Given the description of an element on the screen output the (x, y) to click on. 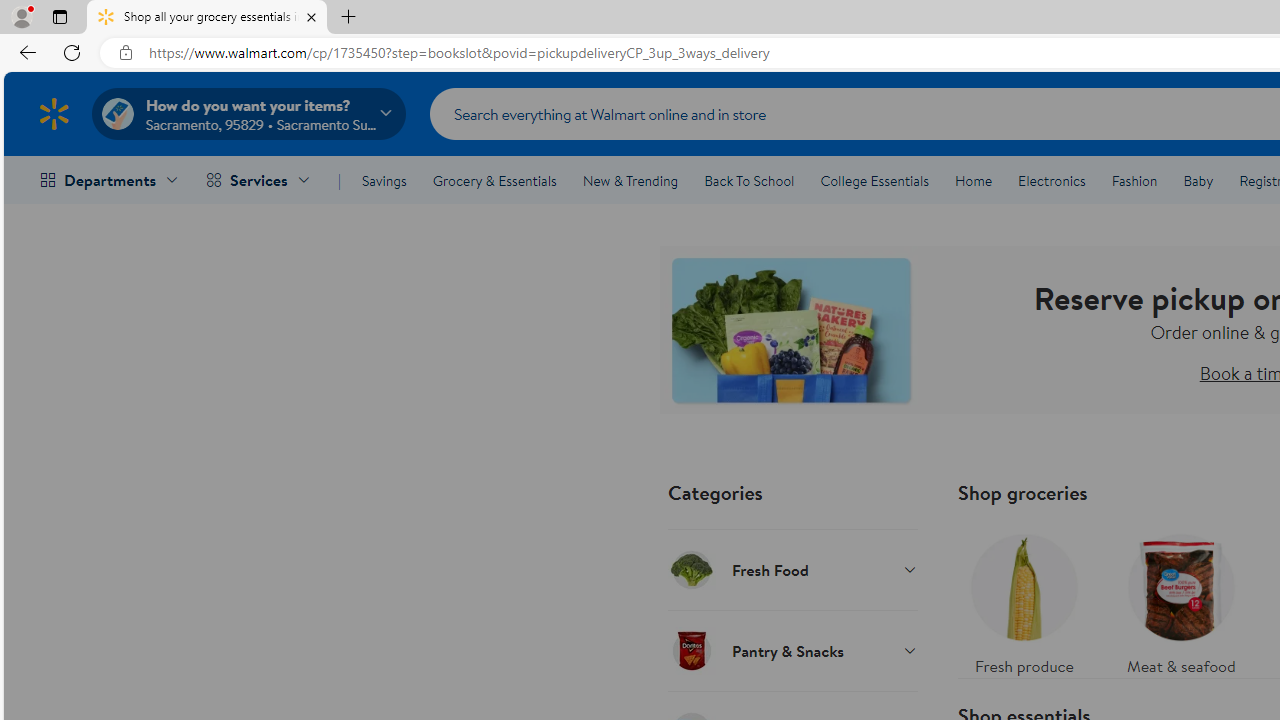
Meat & seafood (1180, 599)
Savings (384, 180)
Meat & seafood (1180, 599)
Baby (1197, 180)
Back To School (749, 180)
Back To School (749, 180)
Grocery & Essentials (493, 180)
Shop all your grocery essentials in one place! - Walmart.com (207, 17)
